Given the description of an element on the screen output the (x, y) to click on. 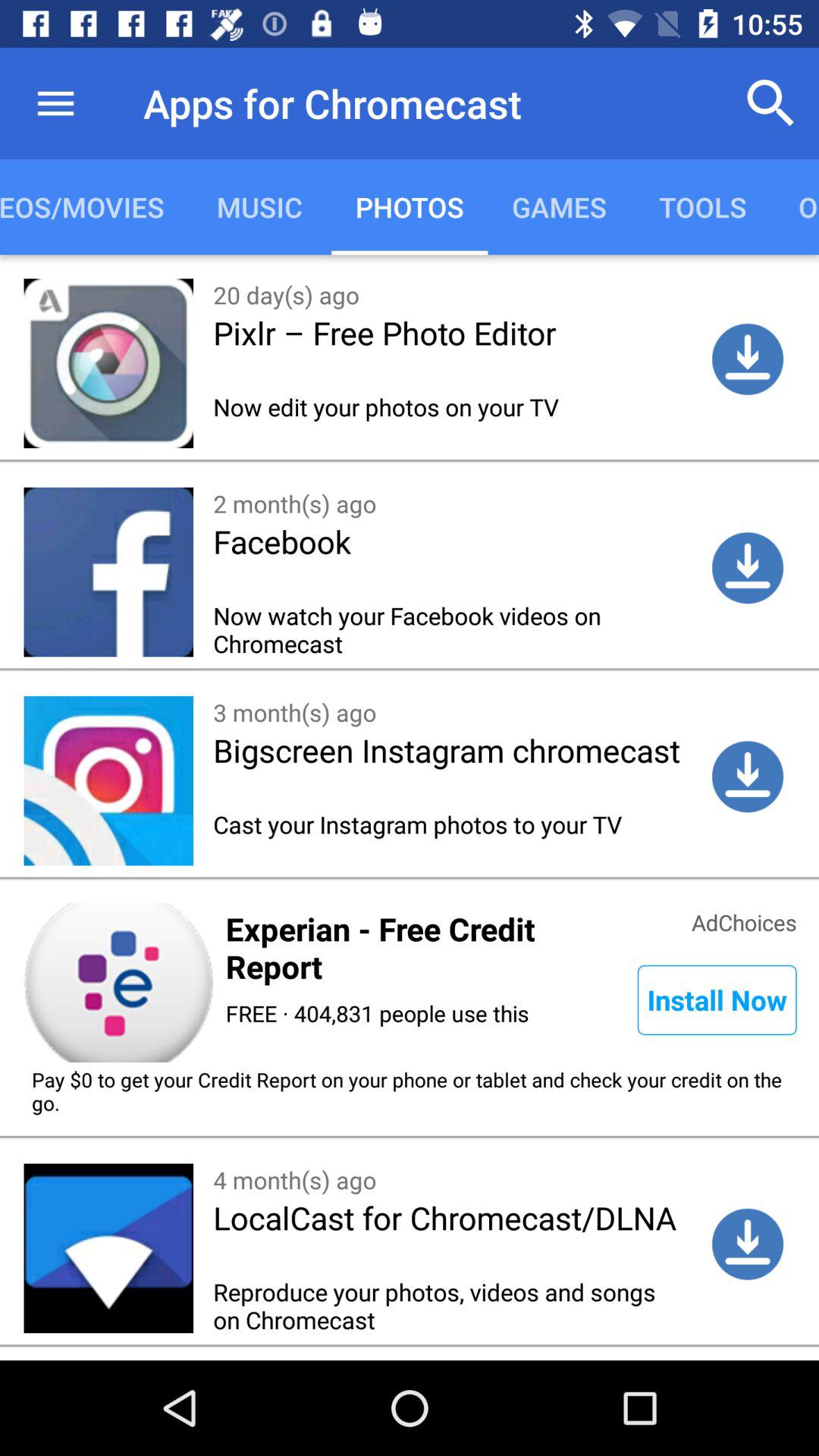
turn on item next to the apps for chromecast item (771, 103)
